Given the description of an element on the screen output the (x, y) to click on. 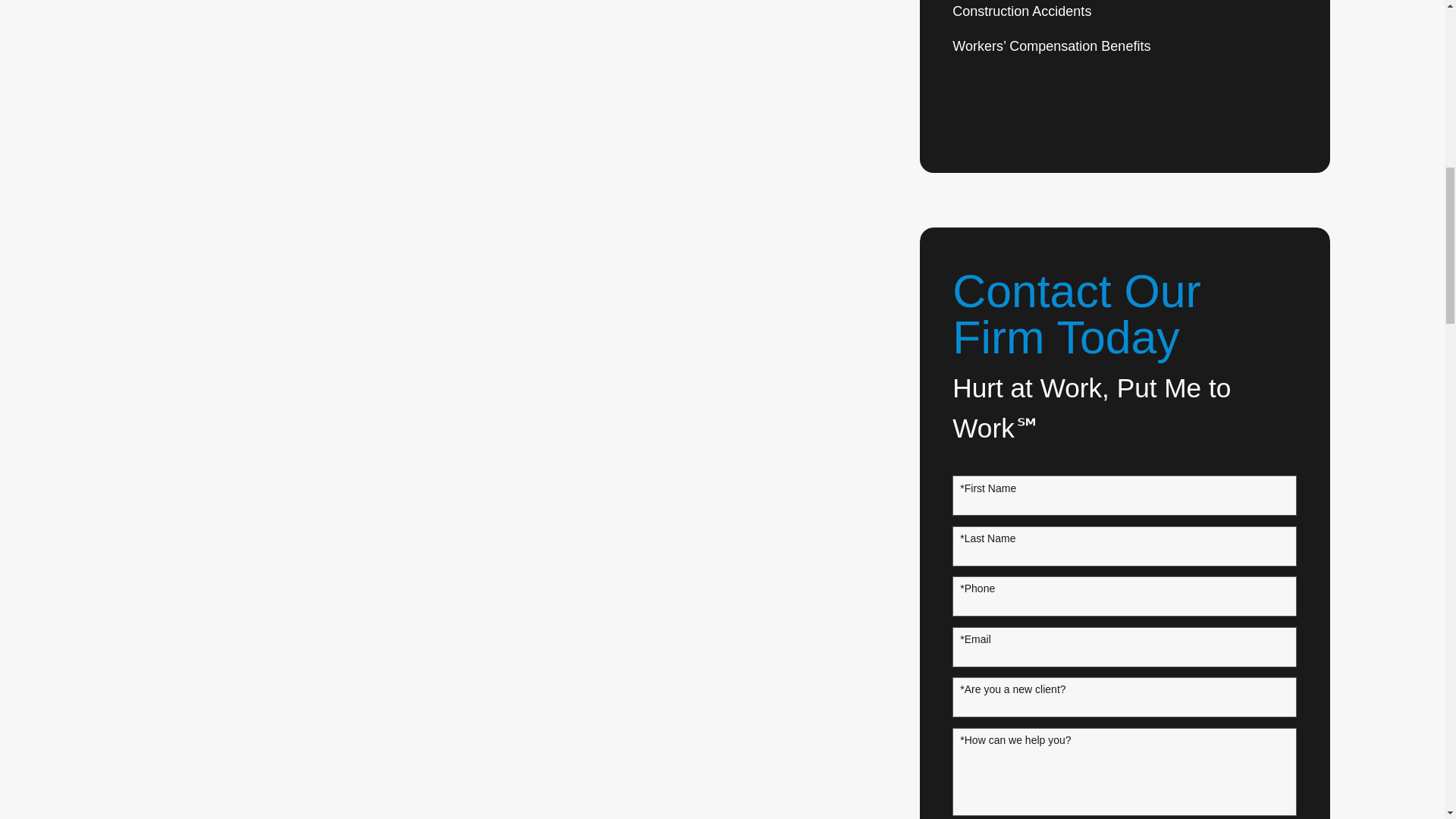
YouTube video player (471, 71)
